Given the description of an element on the screen output the (x, y) to click on. 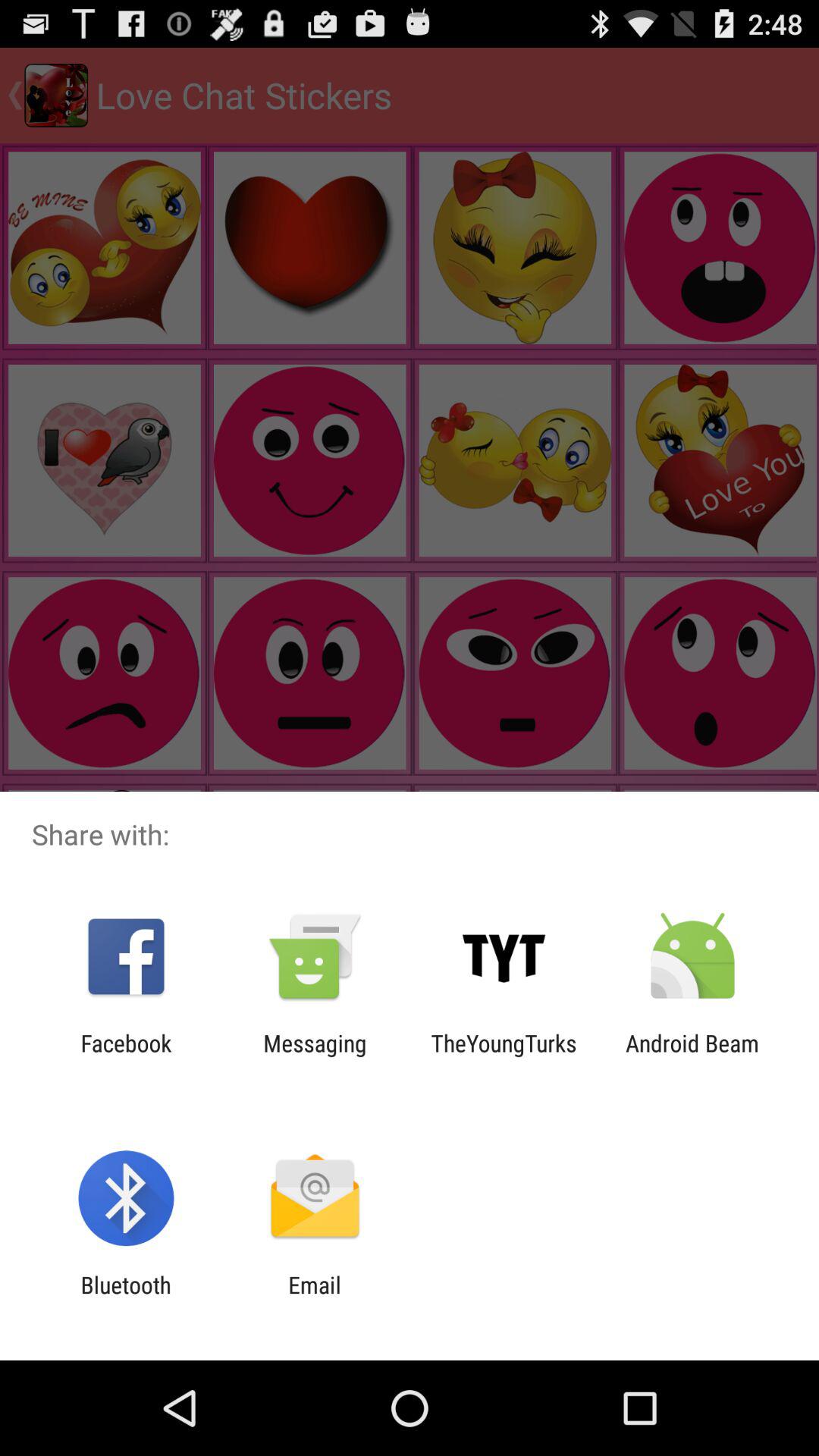
turn off email icon (314, 1298)
